Given the description of an element on the screen output the (x, y) to click on. 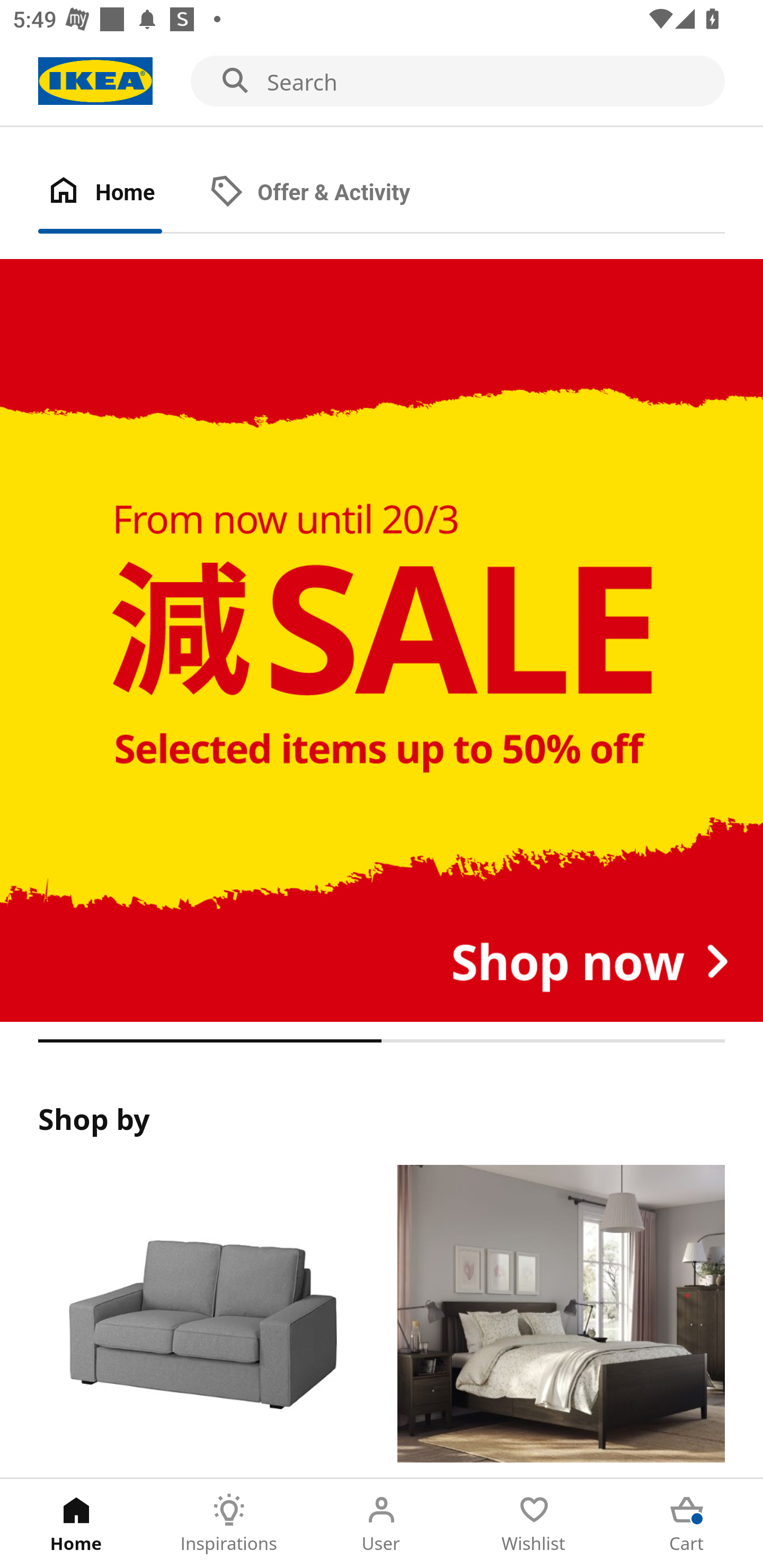
Search (381, 81)
Home
Tab 1 of 2 (118, 192)
Offer & Activity
Tab 2 of 2 (327, 192)
Products (201, 1321)
Rooms (560, 1321)
Home
Tab 1 of 5 (76, 1522)
Inspirations
Tab 2 of 5 (228, 1522)
User
Tab 3 of 5 (381, 1522)
Wishlist
Tab 4 of 5 (533, 1522)
Cart
Tab 5 of 5 (686, 1522)
